Given the description of an element on the screen output the (x, y) to click on. 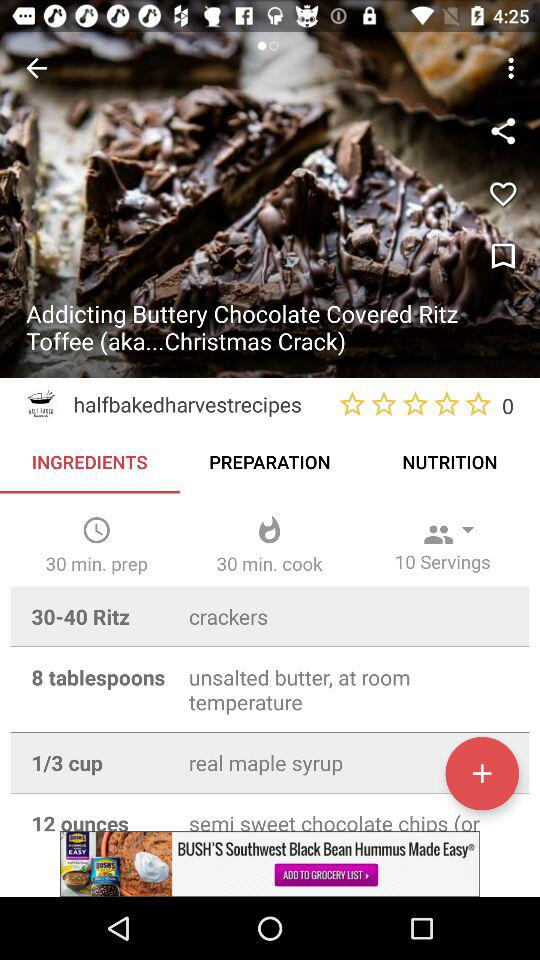
click on third star beside halfbakedharvestrecipes text (415, 404)
click on the icon 8 tablespoons (99, 677)
click on logo above ingredients (41, 404)
choose the text field next to 13 cup (349, 762)
click the first star below toffee image (351, 404)
click on the fourth star below the image (446, 404)
